Given the description of an element on the screen output the (x, y) to click on. 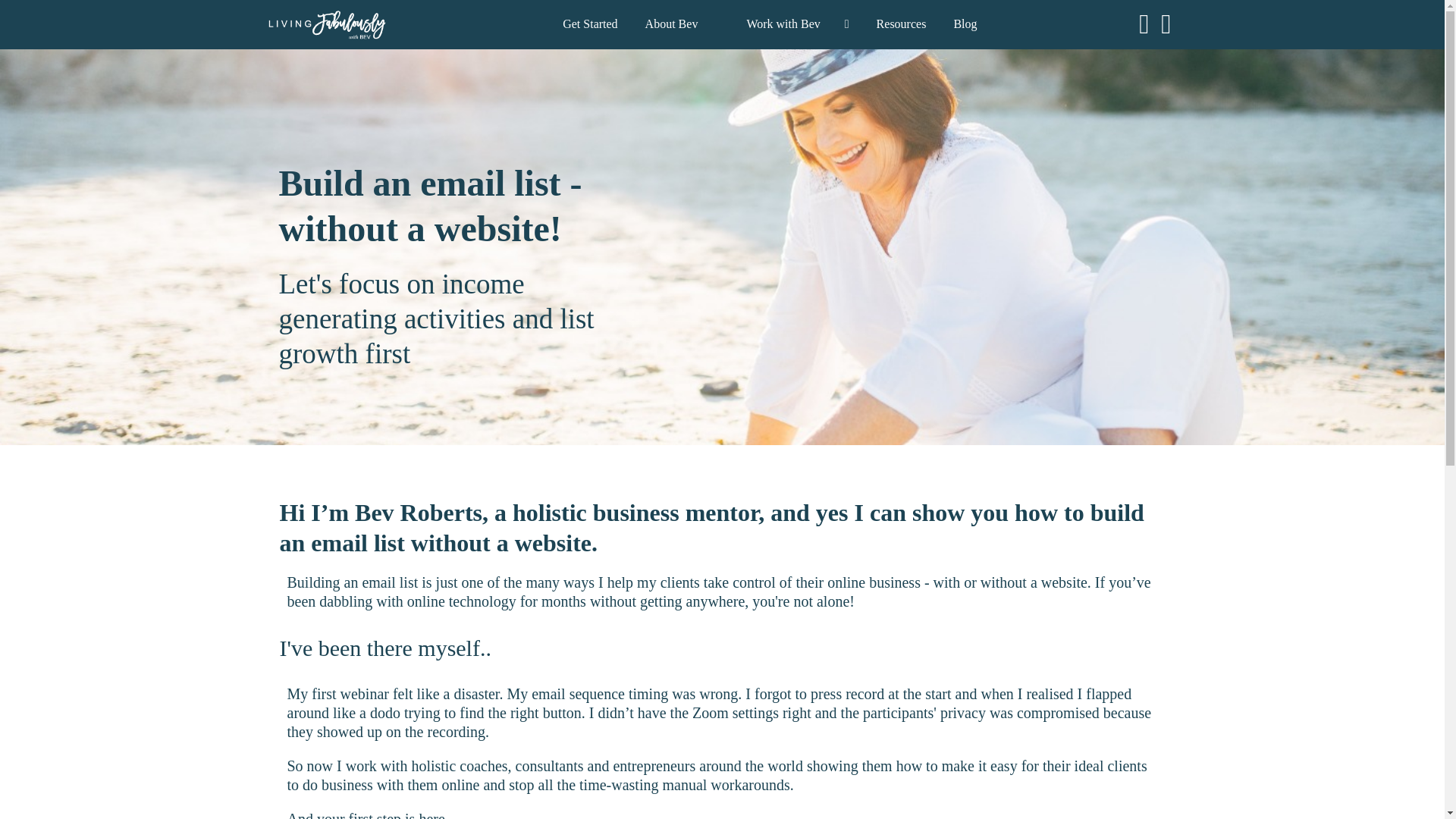
About Bev (671, 23)
Resources (901, 23)
Work with Bev (783, 23)
Blog (964, 23)
Get Started (589, 23)
